Given the description of an element on the screen output the (x, y) to click on. 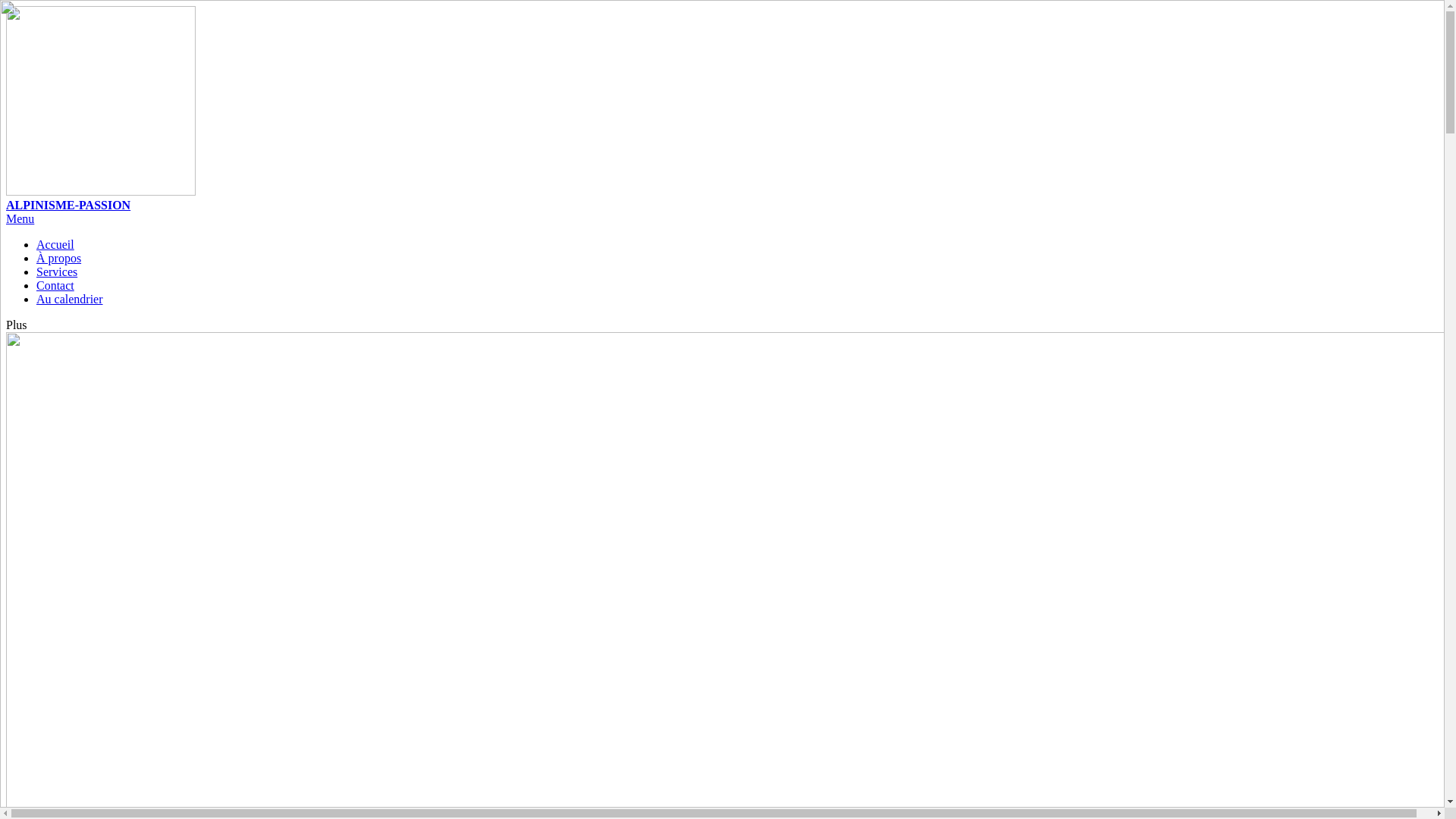
Menu Element type: text (20, 218)
Services Element type: text (56, 271)
Au calendrier Element type: text (69, 298)
ALPINISME-PASSION Element type: text (722, 109)
Accueil Element type: text (55, 244)
Contact Element type: text (55, 285)
